Given the description of an element on the screen output the (x, y) to click on. 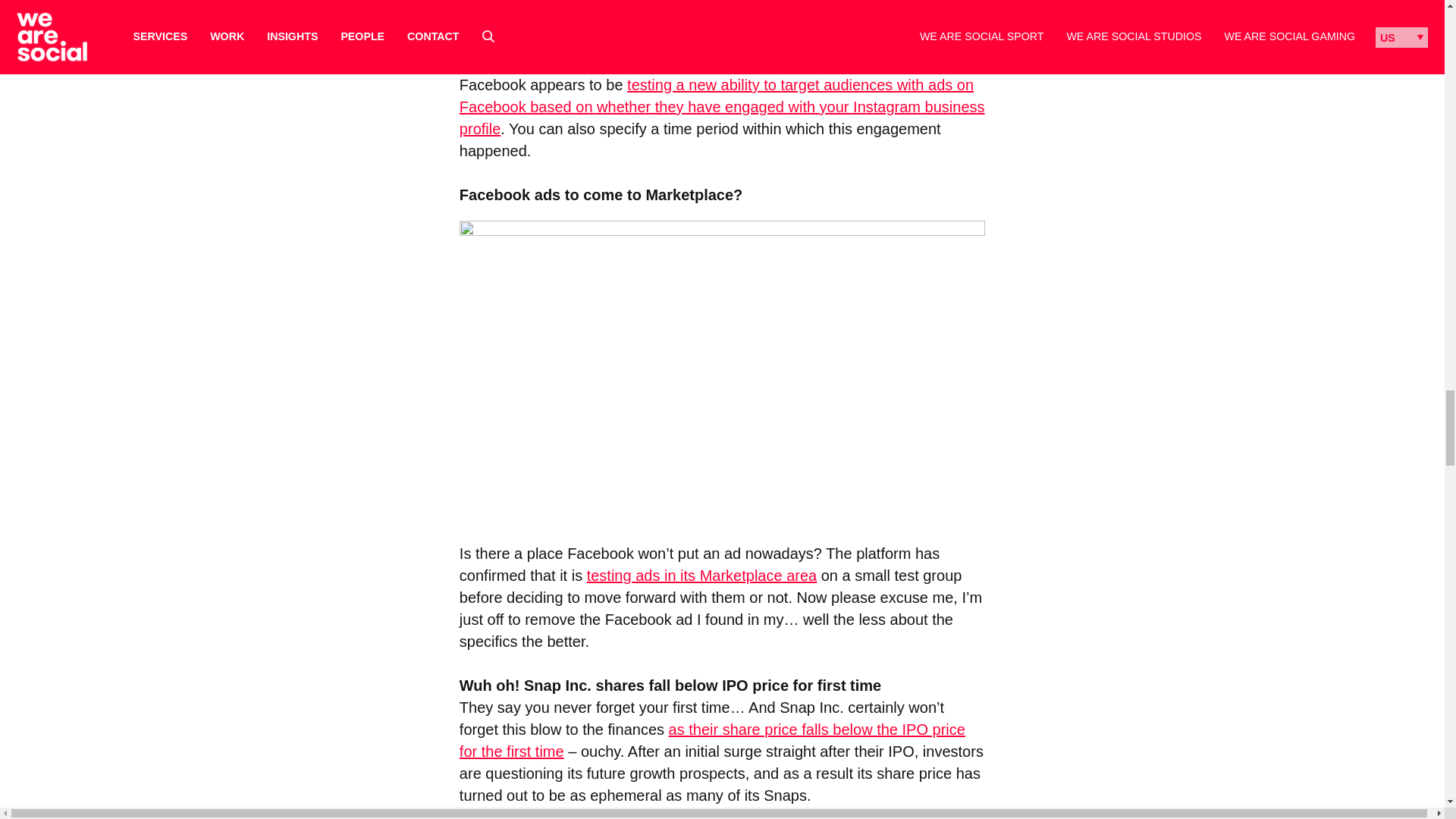
testing ads in its Marketplace area (701, 575)
